Given the description of an element on the screen output the (x, y) to click on. 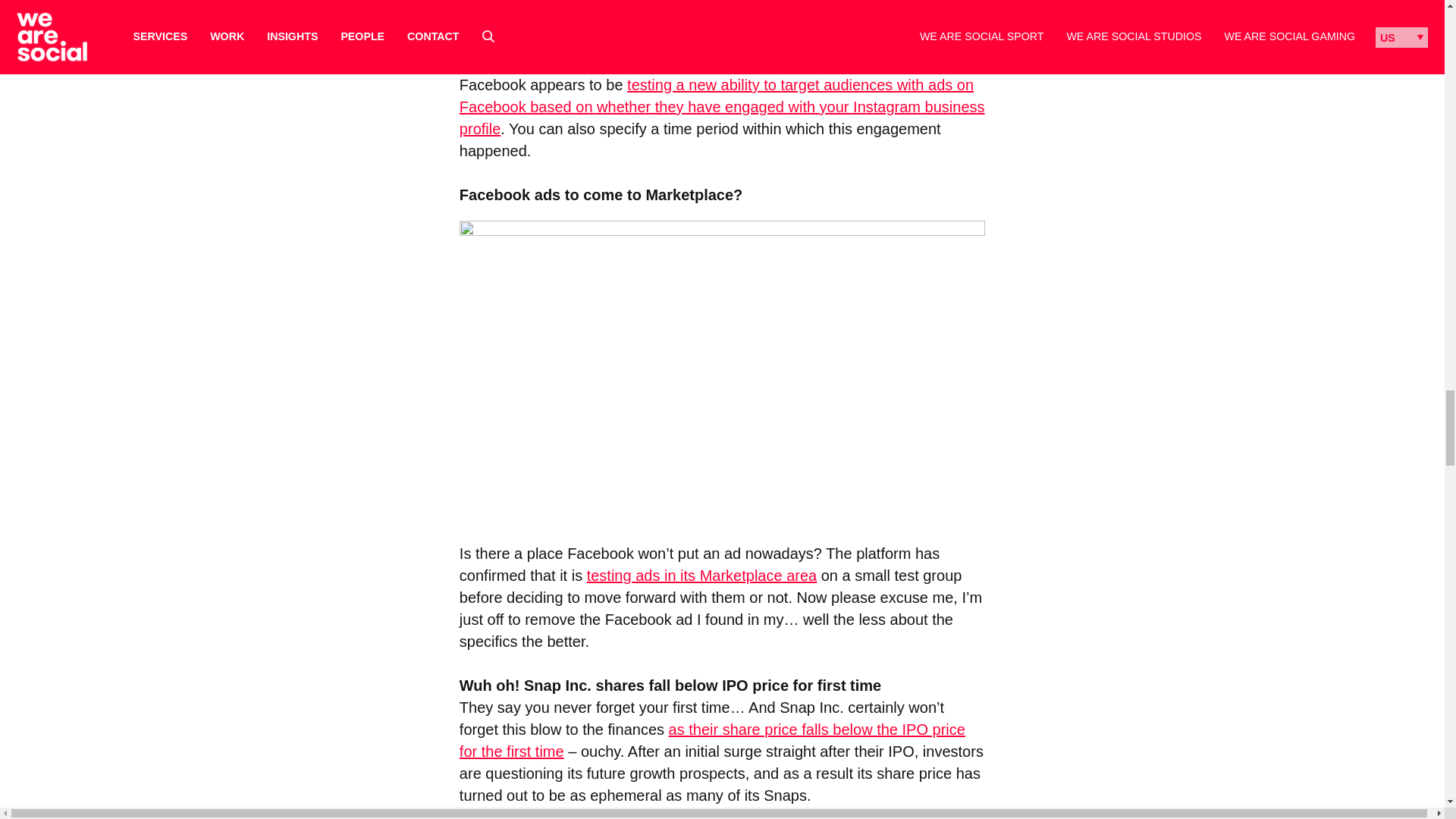
testing ads in its Marketplace area (701, 575)
